Given the description of an element on the screen output the (x, y) to click on. 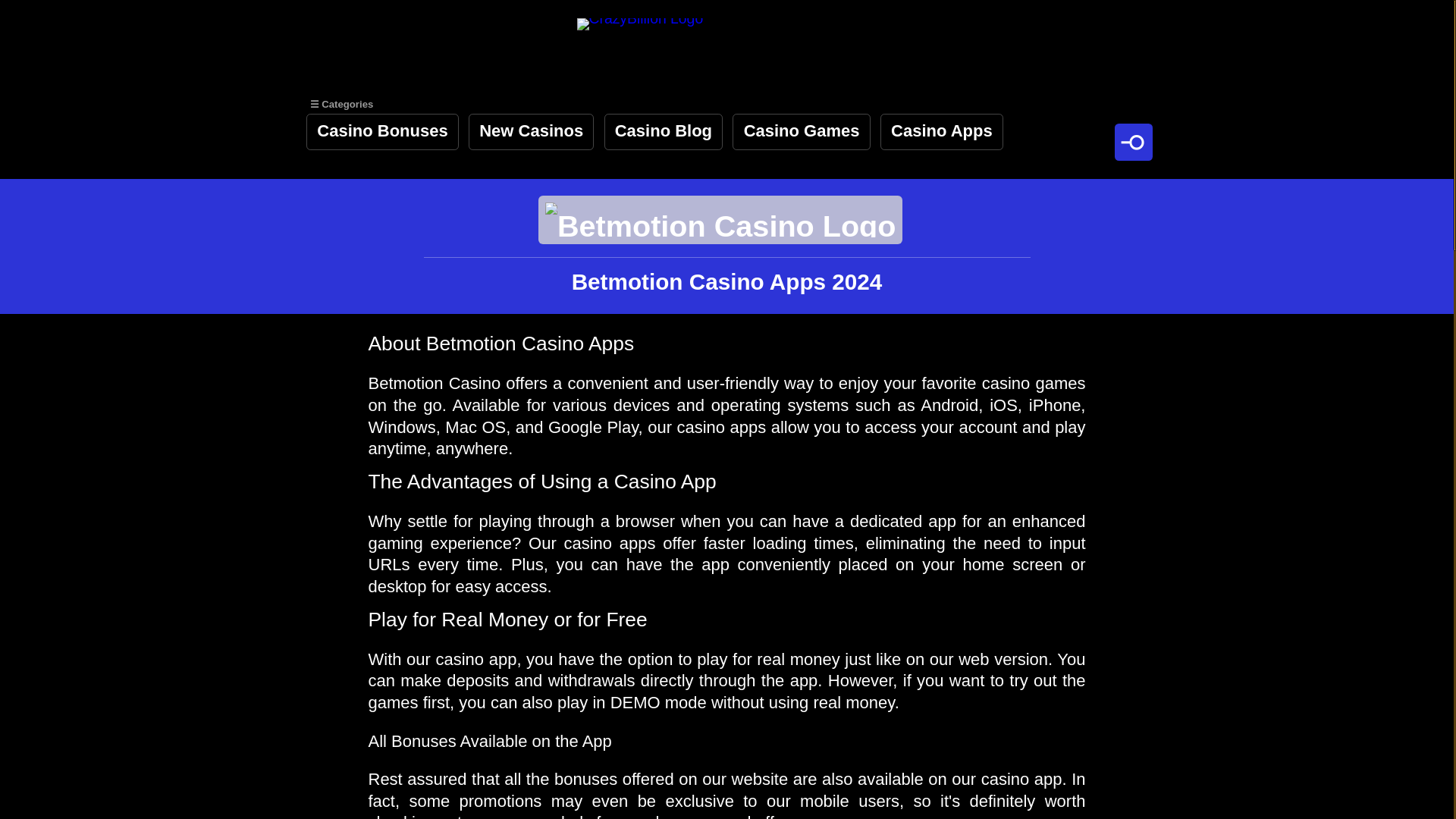
Casino Games (800, 131)
Casino Bonuses (381, 131)
Casino Blog (663, 131)
New Casinos (531, 131)
Casino Apps (941, 131)
